Given the description of an element on the screen output the (x, y) to click on. 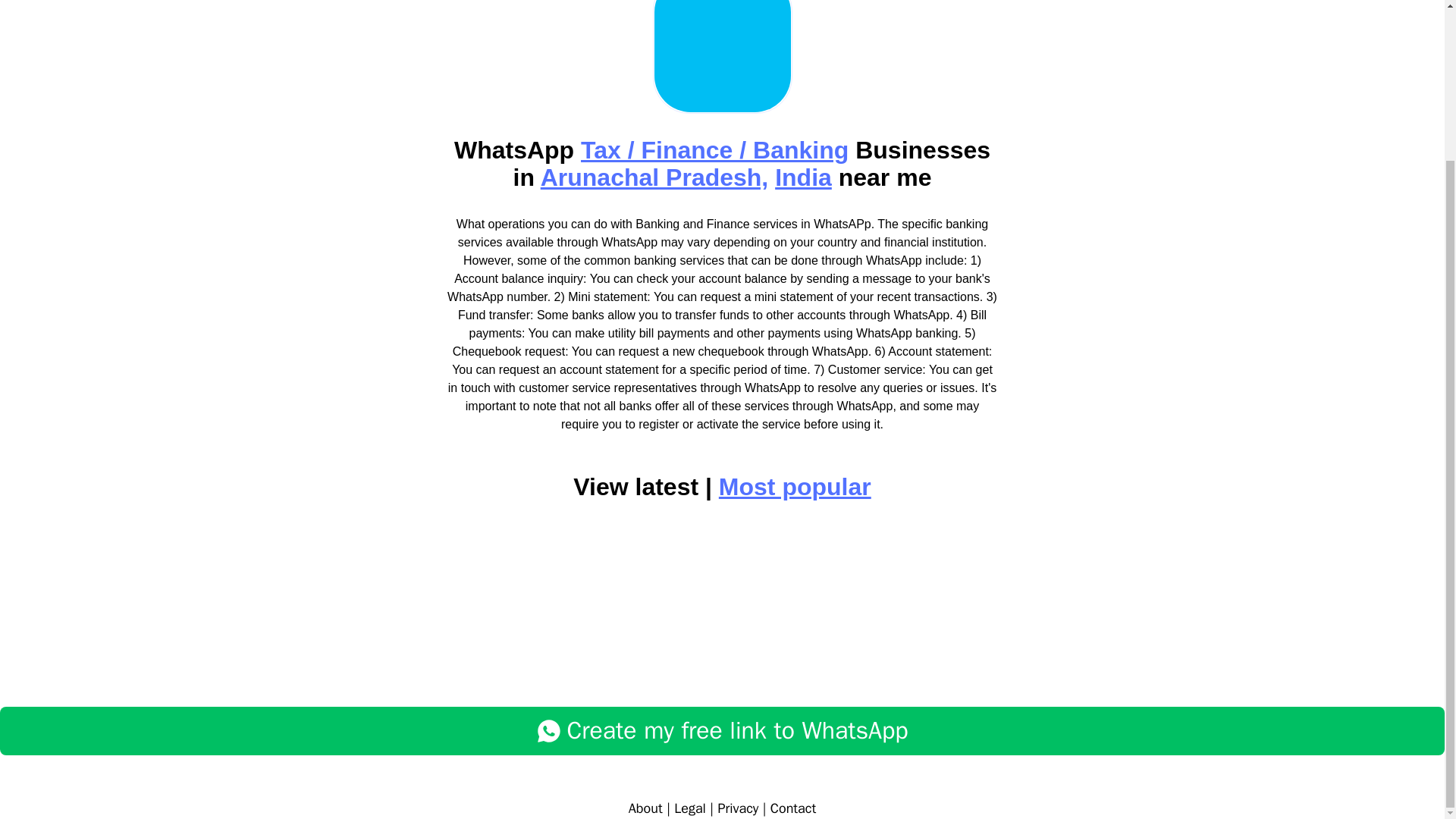
About (645, 808)
Most popular (794, 486)
Contact (792, 808)
Privacy (737, 808)
Legal (690, 808)
Arunachal Pradesh, (654, 176)
India (802, 176)
